Given the description of an element on the screen output the (x, y) to click on. 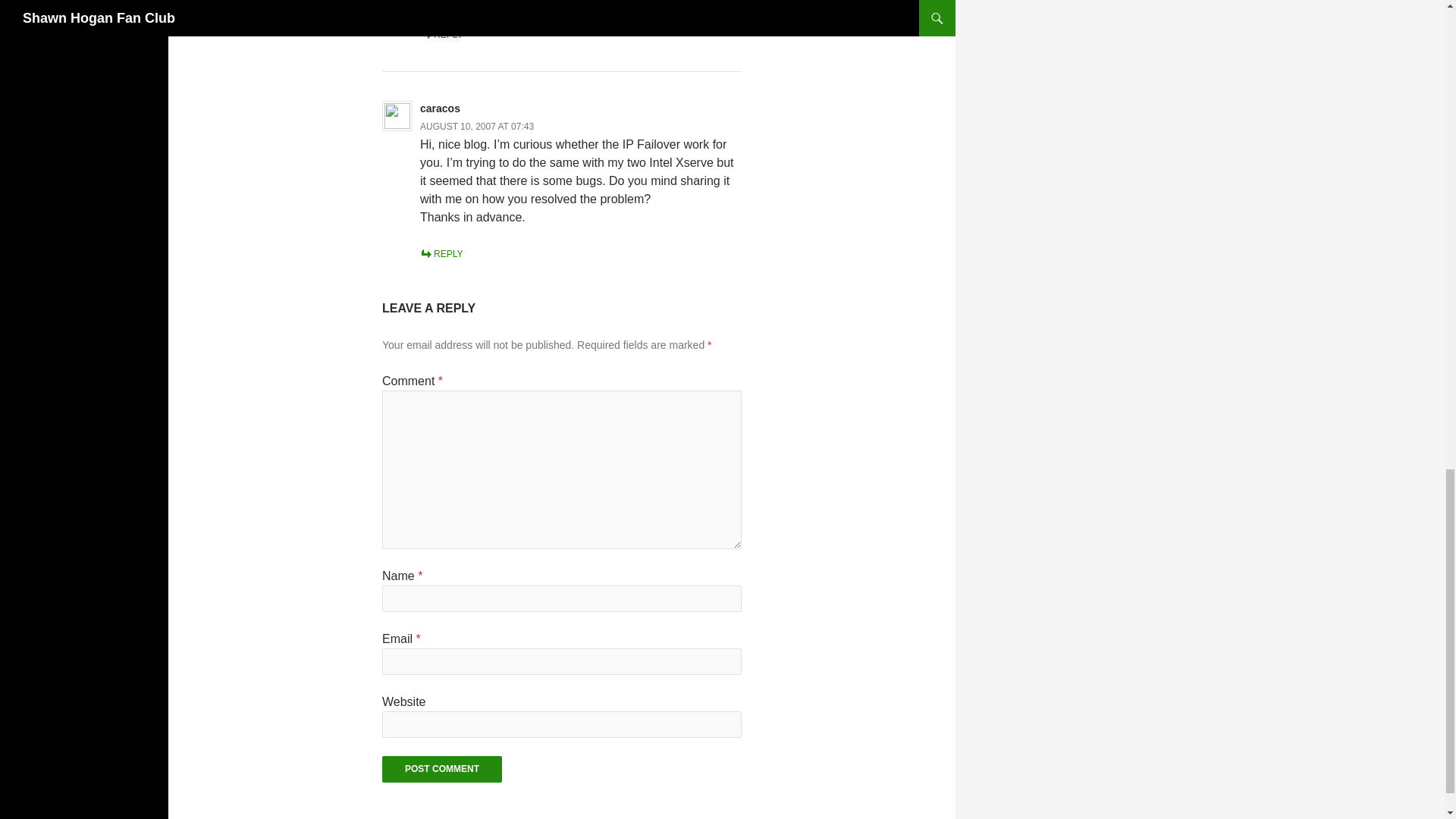
Post Comment (441, 768)
Post Comment (441, 768)
REPLY (441, 253)
REPLY (441, 34)
AUGUST 10, 2007 AT 07:43 (477, 126)
